Given the description of an element on the screen output the (x, y) to click on. 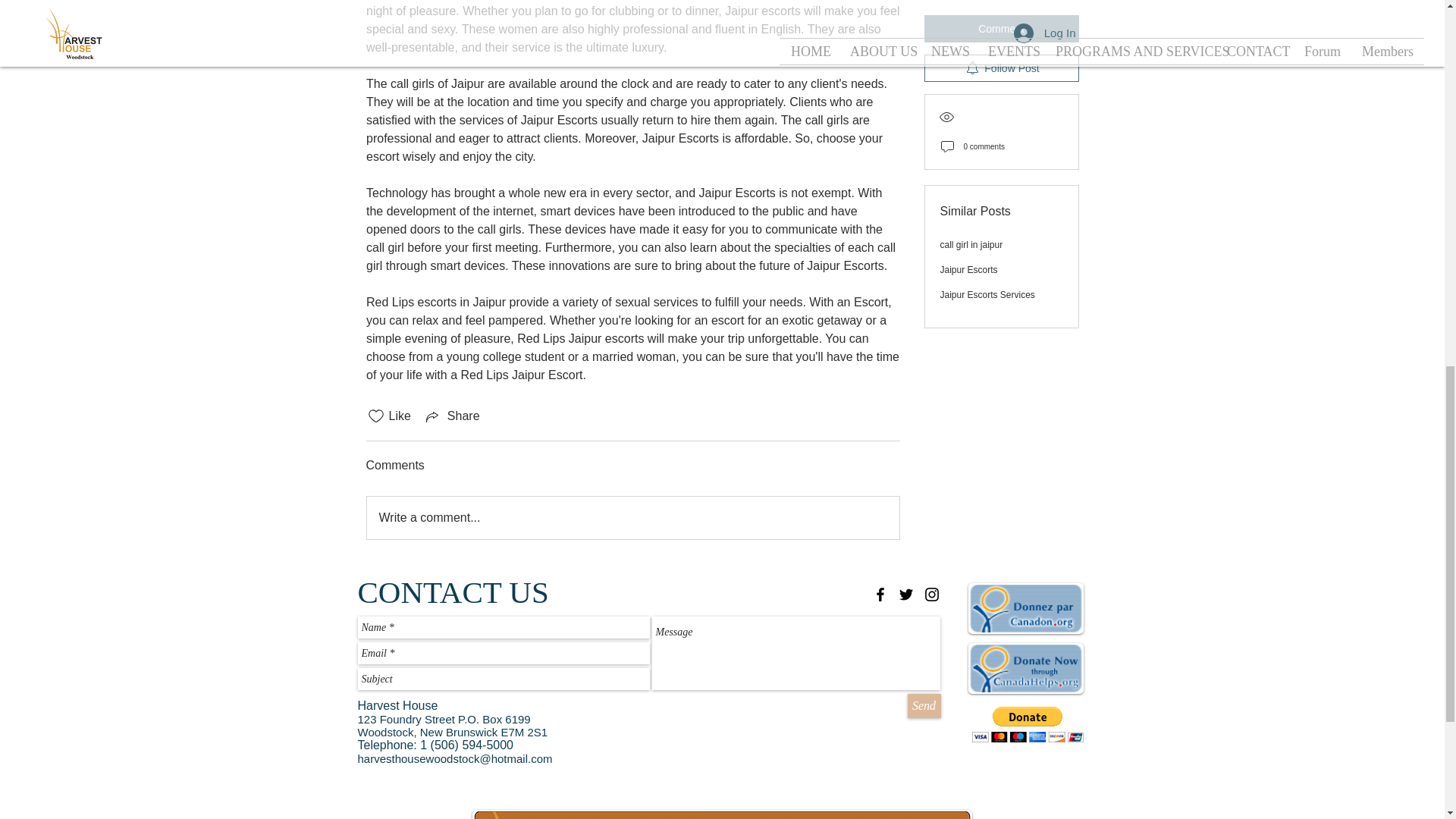
Share (451, 416)
Send (923, 705)
Write a comment... (632, 517)
